Given the description of an element on the screen output the (x, y) to click on. 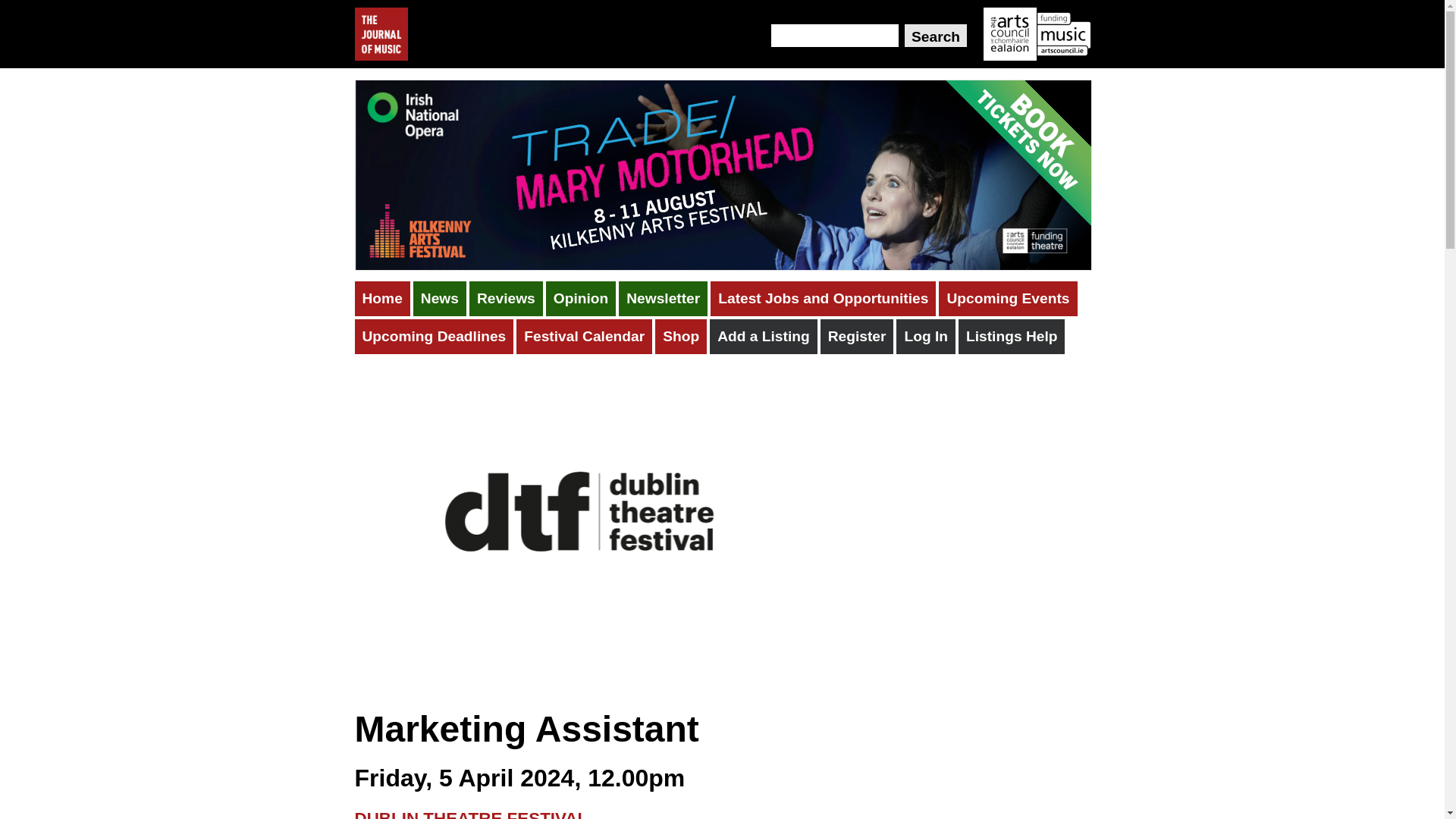
Shop (680, 336)
Opinion (580, 298)
Newsletter (662, 298)
Search (935, 35)
Reviews (505, 298)
Festival Calendar (584, 336)
Search (935, 35)
Upcoming Deadlines (434, 336)
News (439, 298)
Home (382, 298)
Enter the terms you wish to search for. (834, 35)
Upcoming Events (1008, 298)
Latest Jobs and Opportunities (823, 298)
